Given the description of an element on the screen output the (x, y) to click on. 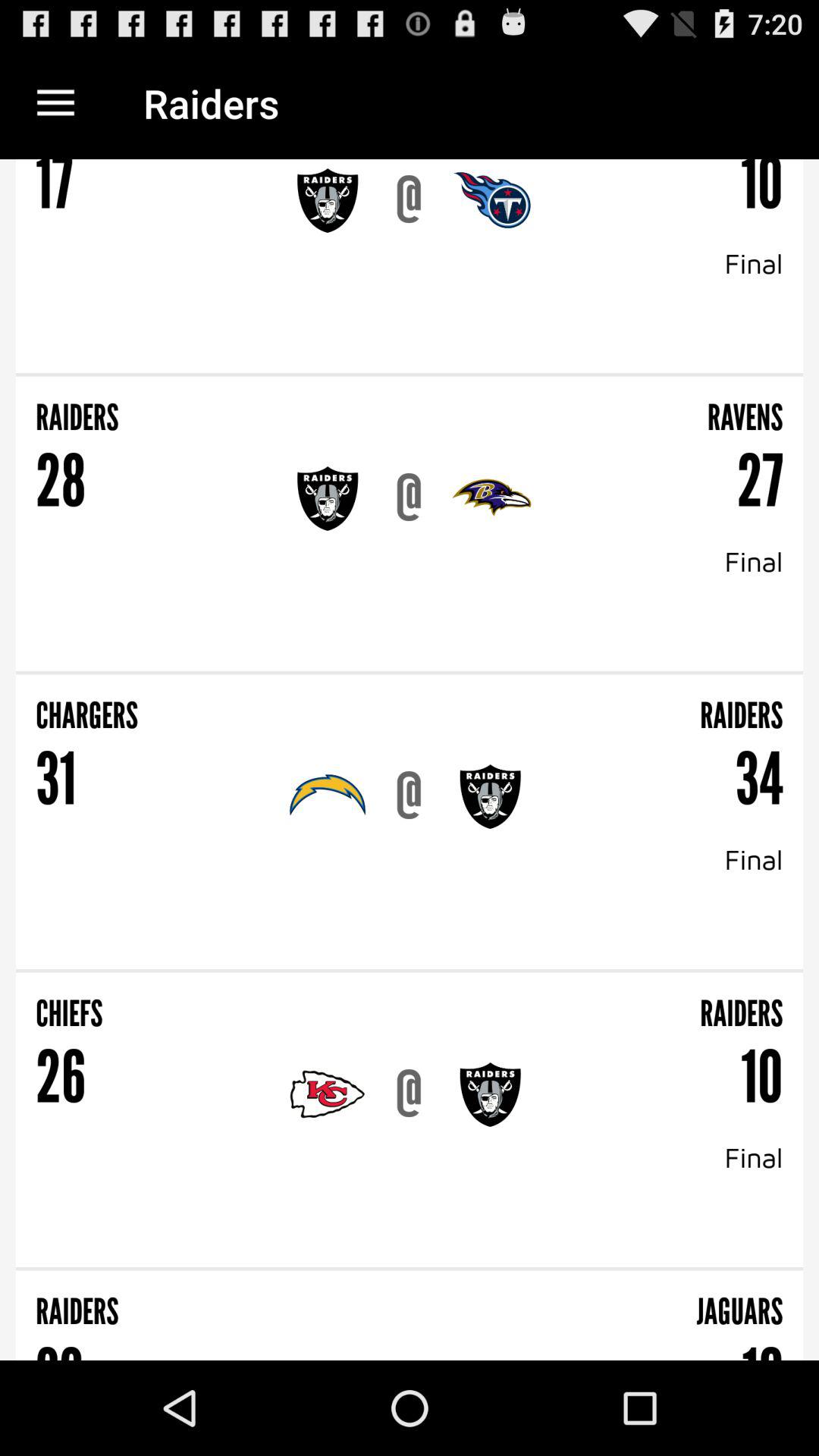
turn on the 33 item (59, 1346)
